Given the description of an element on the screen output the (x, y) to click on. 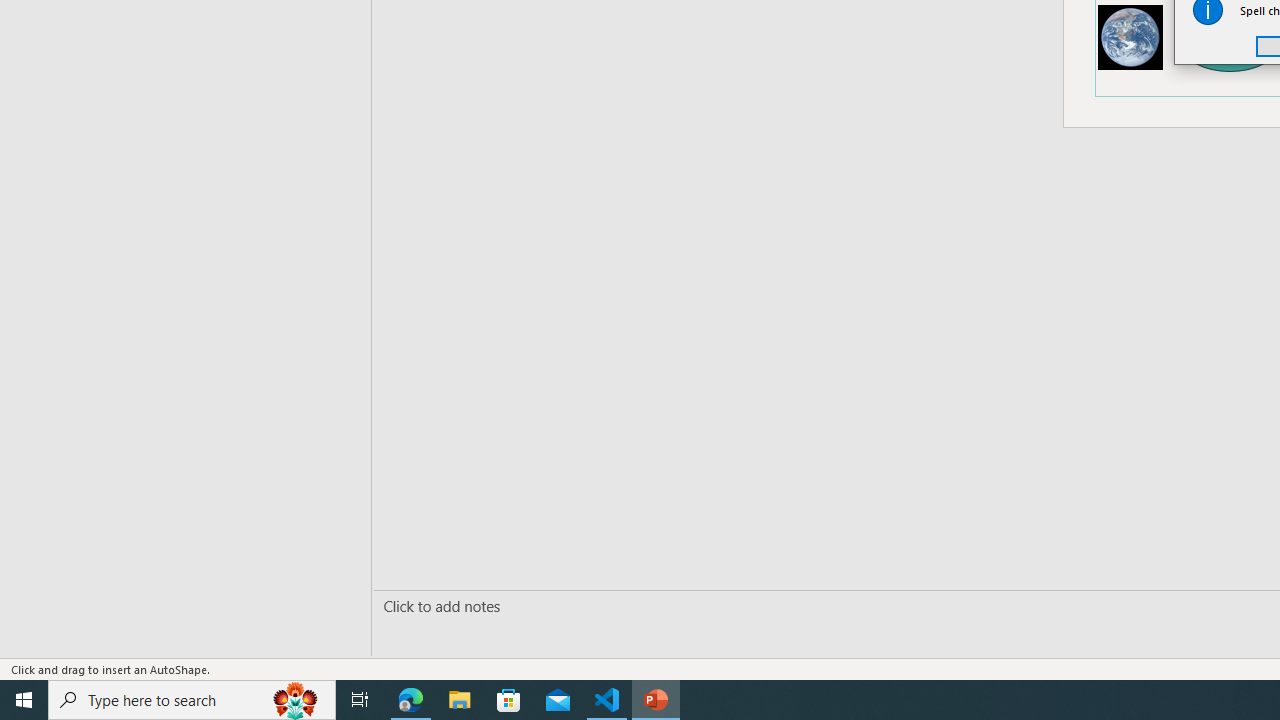
Microsoft Edge - 1 running window (411, 699)
